Given the description of an element on the screen output the (x, y) to click on. 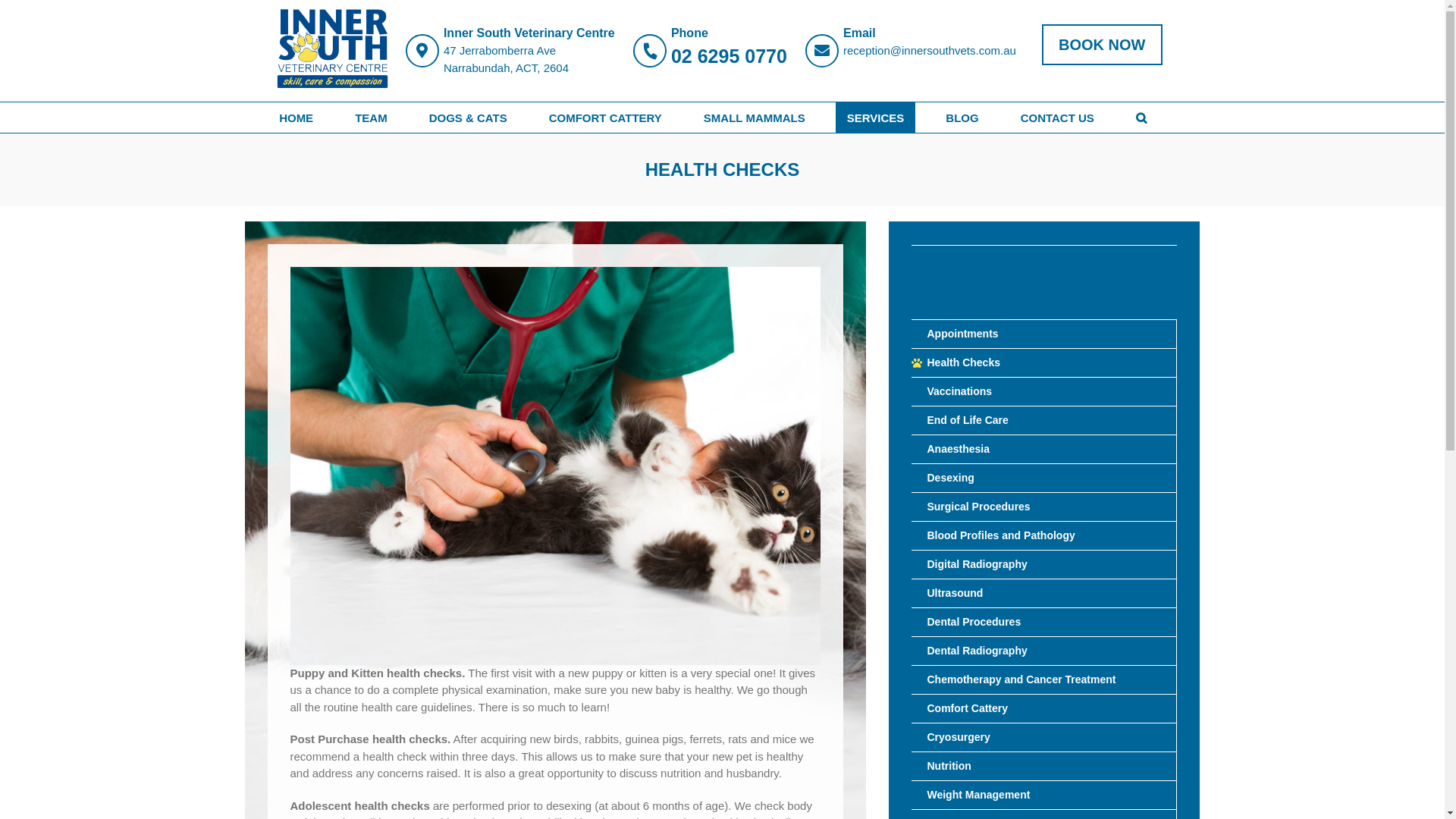
Dental Procedures Element type: text (1043, 622)
Ultrasound Element type: text (1043, 593)
Desexing Element type: text (1043, 478)
HOME Element type: text (295, 117)
SMALL MAMMALS Element type: text (754, 117)
TEAM Element type: text (370, 117)
reception@innersouthvets.com.au Element type: text (929, 50)
BOOK NOW Element type: text (1101, 44)
Search Element type: hover (1140, 117)
47 Jerrabomberra Ave
Narrabundah, ACT, 2604 Element type: text (529, 59)
End of Life Care Element type: text (1043, 420)
Surgical Procedures Element type: text (1043, 506)
Comfort Cattery Element type: text (1043, 708)
CONTACT US Element type: text (1057, 117)
Dental Radiography Element type: text (1043, 651)
Weight Management Element type: text (1043, 795)
Chemotherapy and Cancer Treatment Element type: text (1043, 679)
SERVICES Element type: text (875, 117)
Health-Checks Element type: hover (554, 465)
Digital Radiography Element type: text (1043, 564)
Nutrition Element type: text (1043, 766)
COMFORT CATTERY Element type: text (605, 117)
Cryosurgery Element type: text (1043, 737)
Blood Profiles and Pathology Element type: text (1043, 535)
Anaesthesia Element type: text (1043, 449)
Health Checks Element type: text (1043, 362)
Appointments Element type: text (1043, 334)
Vaccinations Element type: text (1043, 391)
BLOG Element type: text (961, 117)
02 6295 0770 Element type: text (729, 56)
DOGS & CATS Element type: text (467, 117)
